Given the description of an element on the screen output the (x, y) to click on. 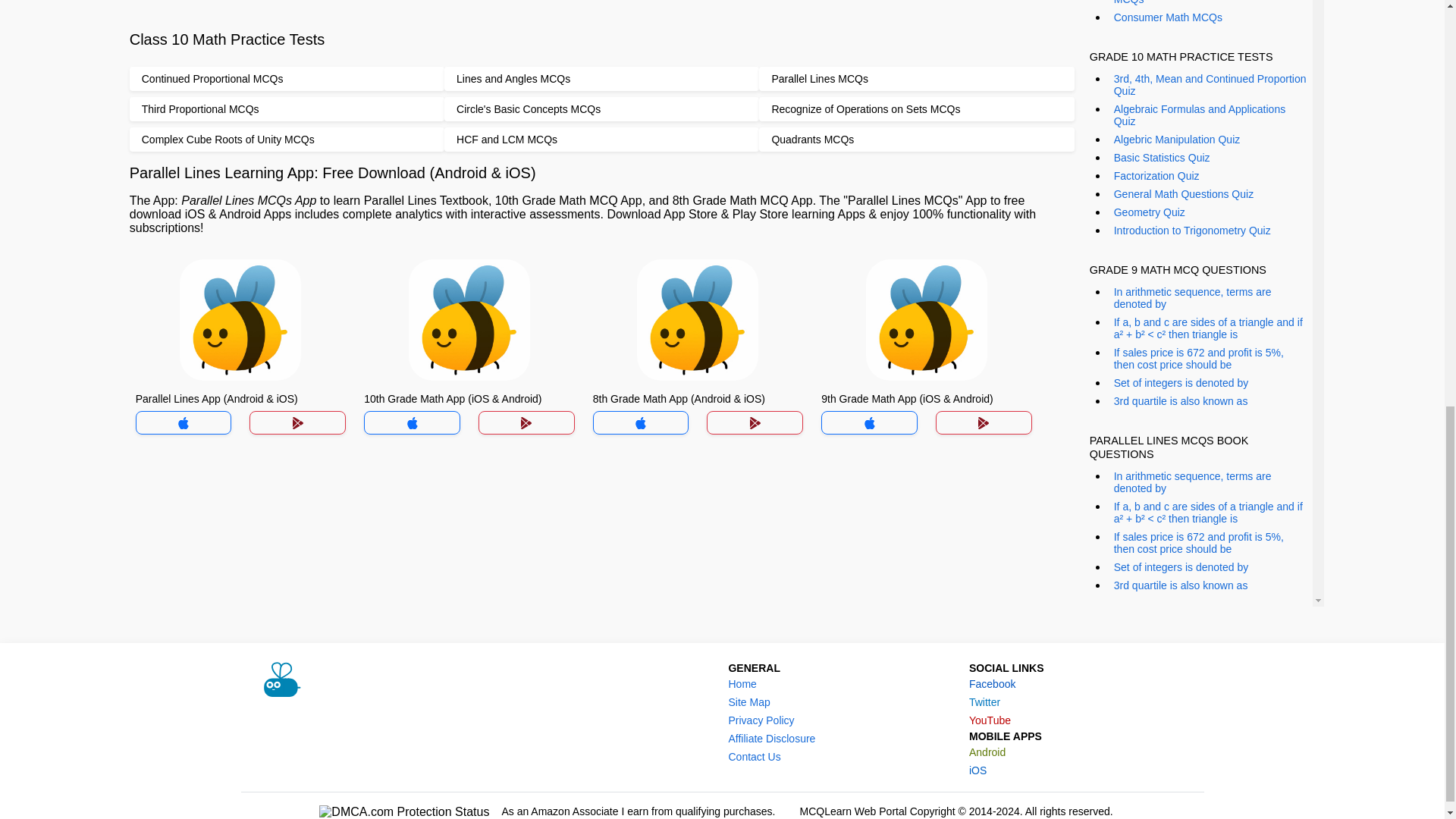
DMCA.com Protection Status (403, 811)
